Given the description of an element on the screen output the (x, y) to click on. 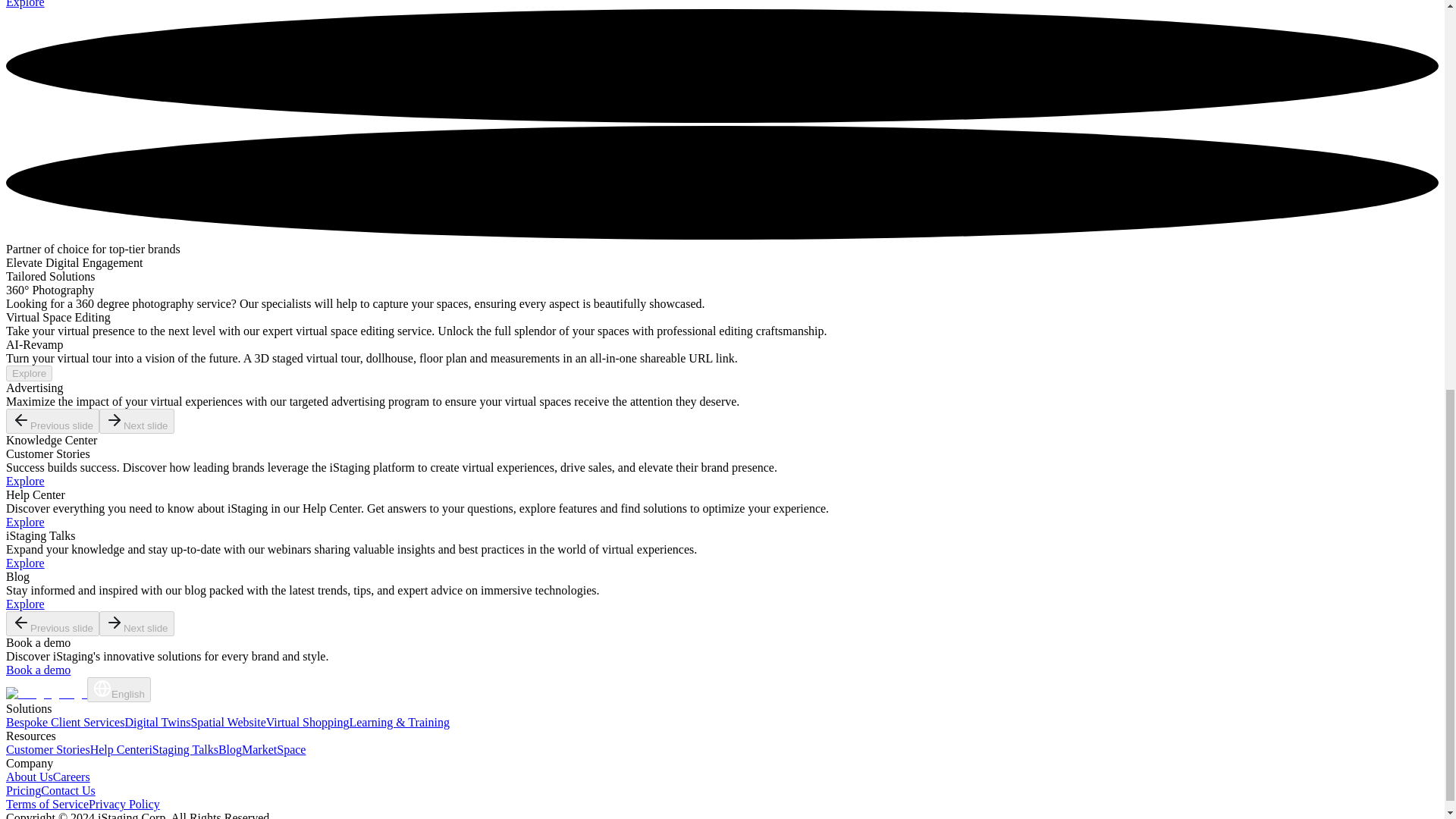
Contact Us (68, 789)
Help Center (119, 748)
Spatial Website (227, 721)
English (119, 689)
Explore (28, 373)
MarketSpace (273, 748)
Bespoke Client Services (64, 721)
Previous slide (52, 421)
Next slide (136, 623)
Book a demo (37, 669)
